Given the description of an element on the screen output the (x, y) to click on. 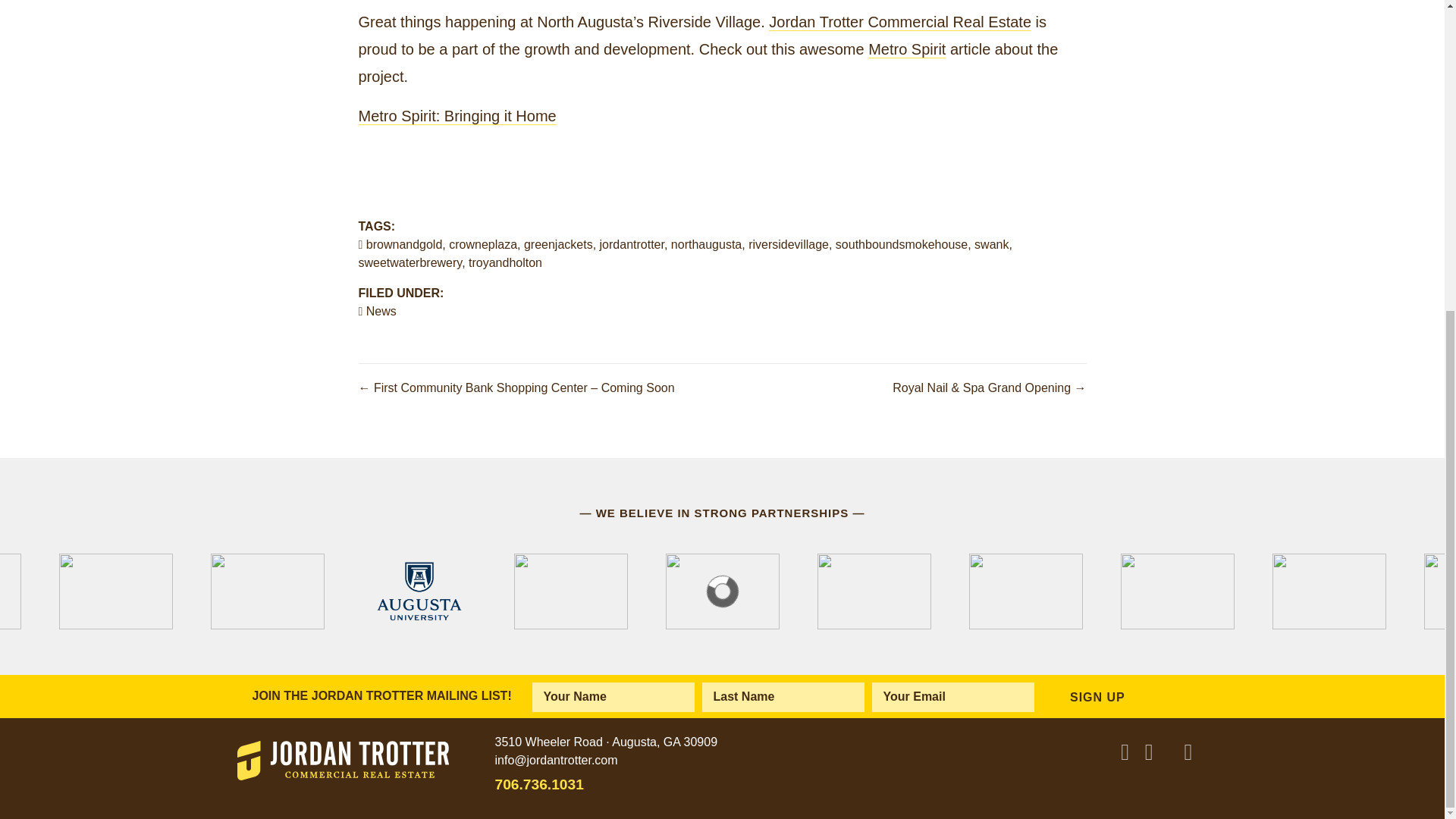
sweetwaterbrewery (409, 262)
troyandholton (504, 262)
Metro Spirit: Bringing it Home (457, 116)
jordantrotter (631, 244)
swank (991, 244)
News (381, 310)
southboundsmokehouse (901, 244)
crowneplaza (482, 244)
riversidevillage (788, 244)
Jordan Trotter Commercial Real Estate (899, 22)
northaugusta (706, 244)
706.736.1031 (722, 784)
brownandgold (404, 244)
Metro Spirit (905, 49)
SIGN UP (1092, 696)
